Given the description of an element on the screen output the (x, y) to click on. 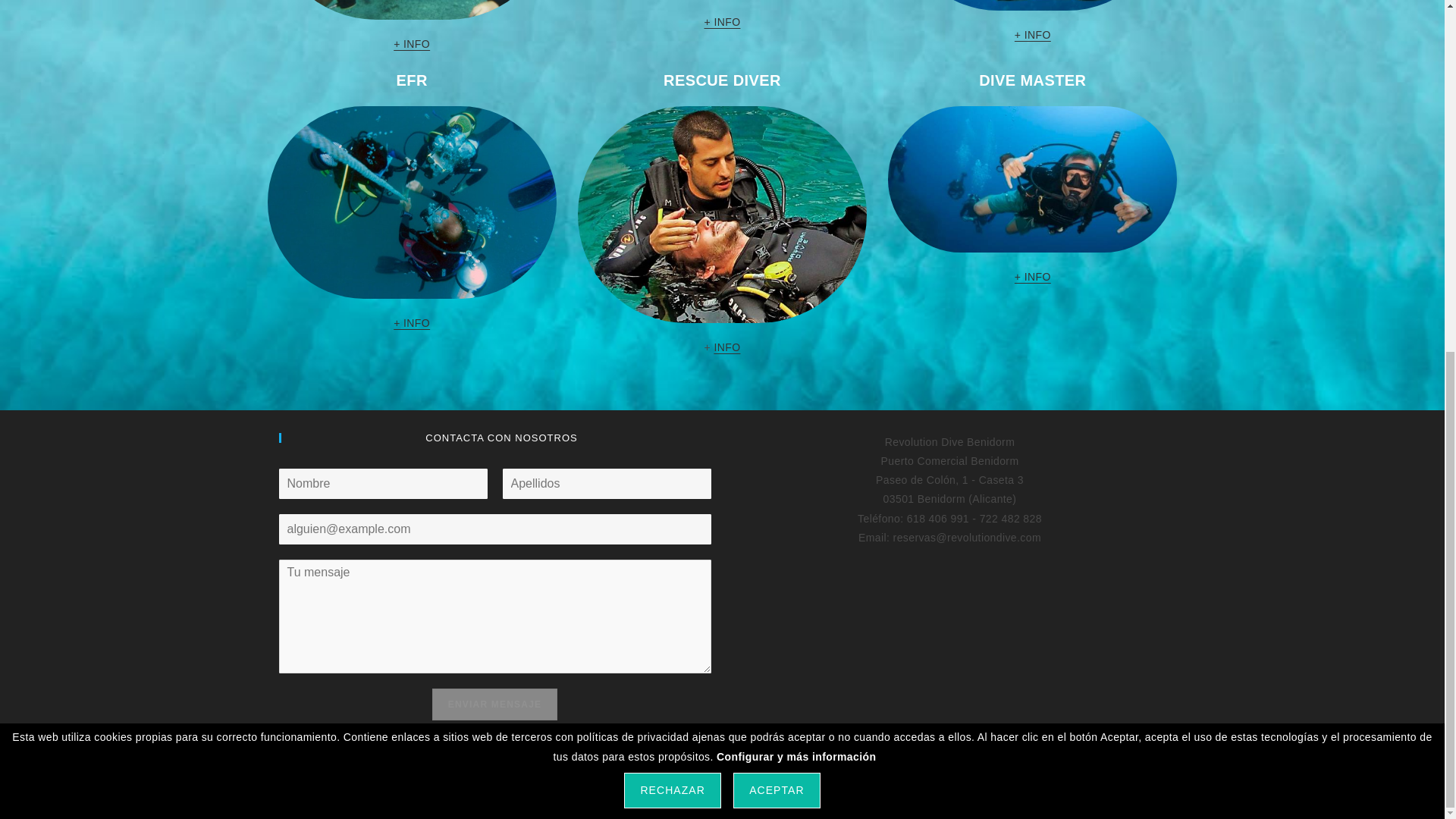
ACEPTAR (776, 178)
RECHAZAR (672, 178)
INFO (726, 346)
ENVIAR MENSAJE (494, 704)
